Given the description of an element on the screen output the (x, y) to click on. 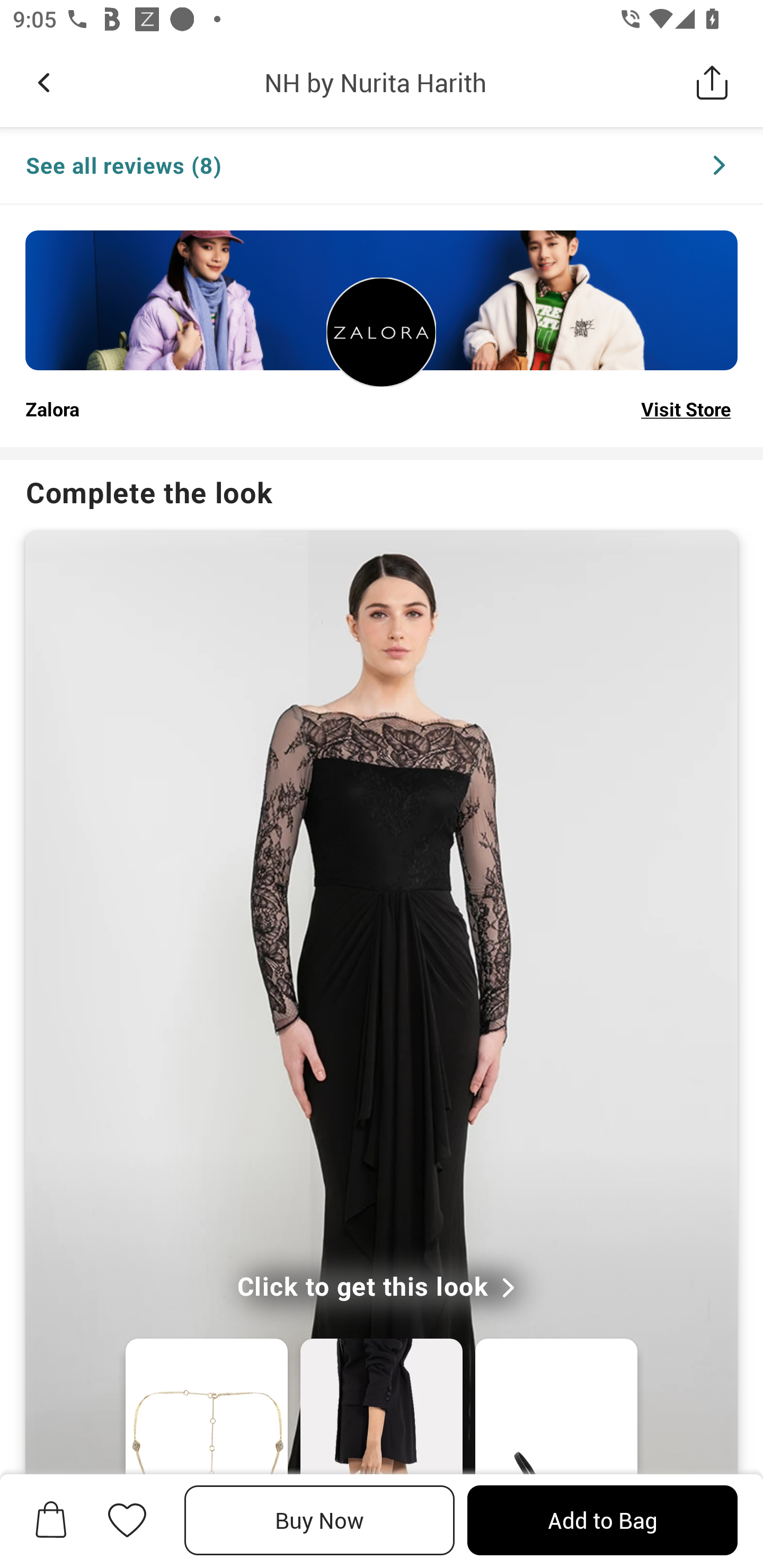
NH by Nurita Harith (375, 82)
Share this Product (711, 82)
See all reviews (8) (381, 166)
content description (381, 332)
Zalora (52, 408)
Visit Store (685, 408)
Click to get this look (381, 1287)
Buy Now (319, 1519)
Add to Bag (601, 1519)
